Given the description of an element on the screen output the (x, y) to click on. 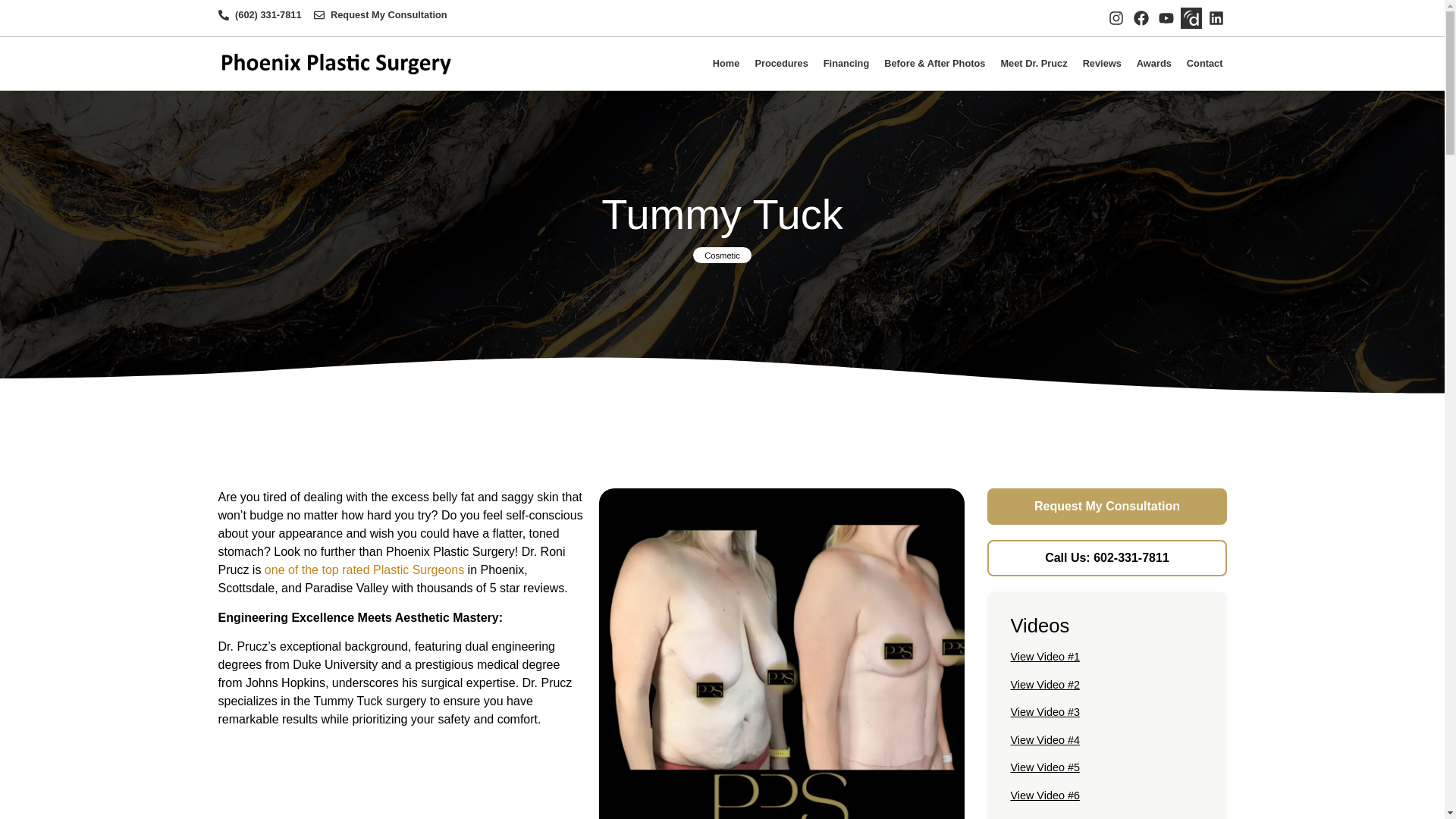
Awards (1153, 63)
Reviews (1101, 63)
Request My Consultation (380, 14)
Meet Dr. Prucz (1032, 63)
Procedures (780, 63)
Contact (1204, 63)
Financing (845, 63)
Home (726, 63)
